Given the description of an element on the screen output the (x, y) to click on. 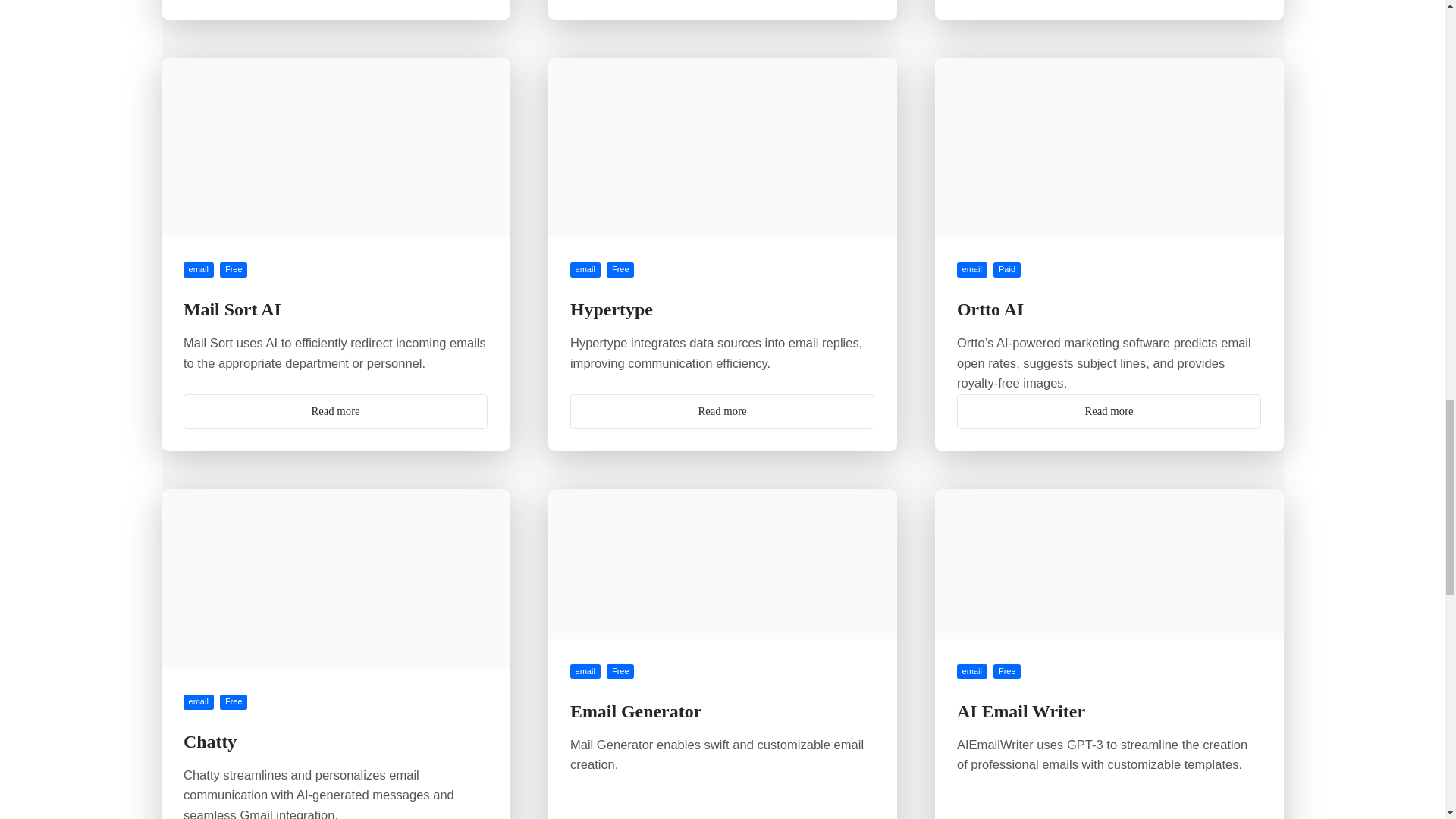
Mail Sort AI (232, 309)
Read more (335, 411)
Hypertype (611, 309)
Free (620, 269)
email (198, 269)
email (971, 269)
Free (233, 269)
Read more (722, 411)
email (584, 269)
